Given the description of an element on the screen output the (x, y) to click on. 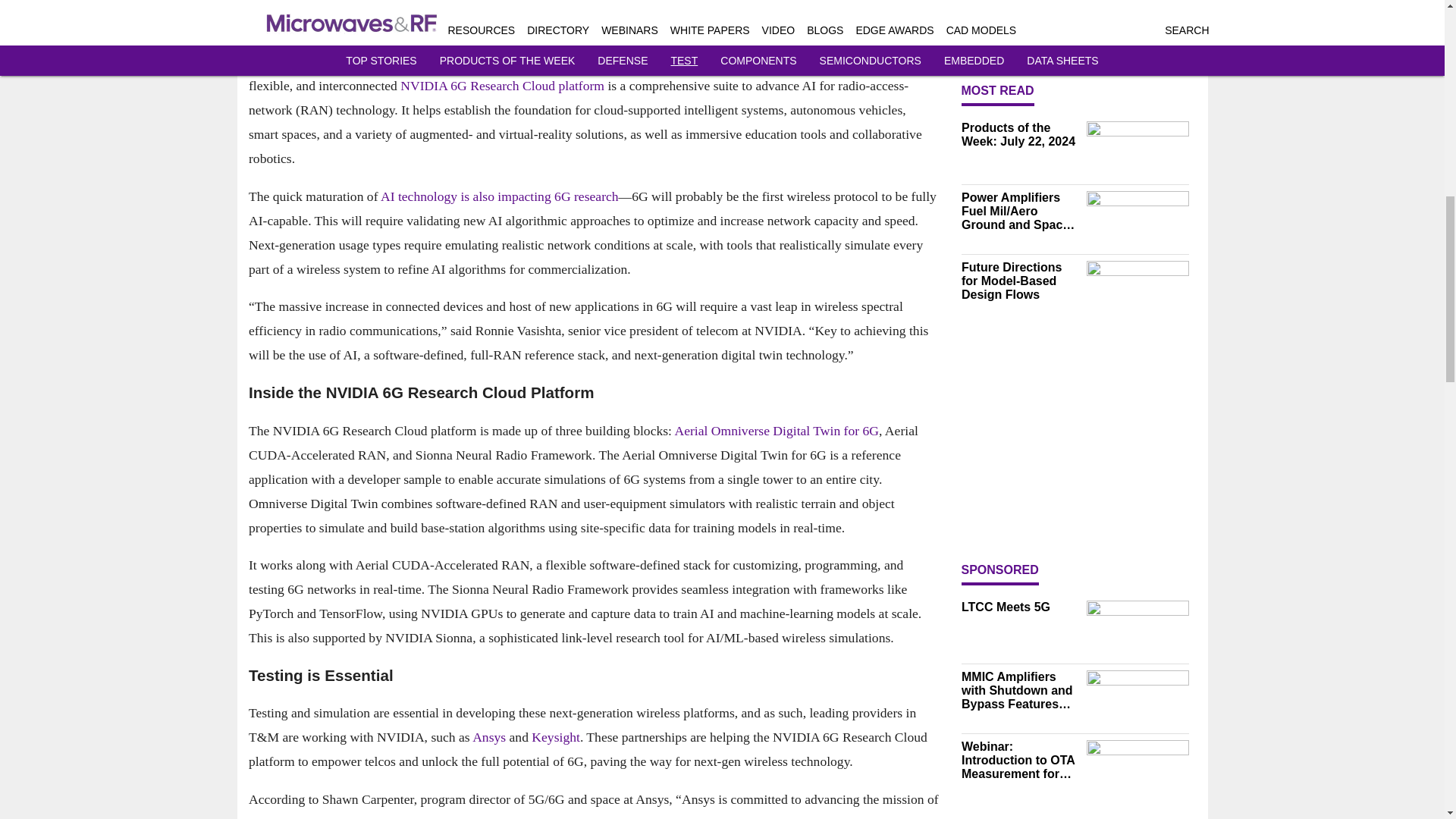
Aerial Omniverse Digital Twin for 6G (776, 430)
AI technology is also impacting 6G research (498, 196)
6G Research Cloud platform (526, 86)
NVIDIA (423, 86)
Keysight (555, 737)
6G development (447, 61)
Ansys (489, 737)
